Given the description of an element on the screen output the (x, y) to click on. 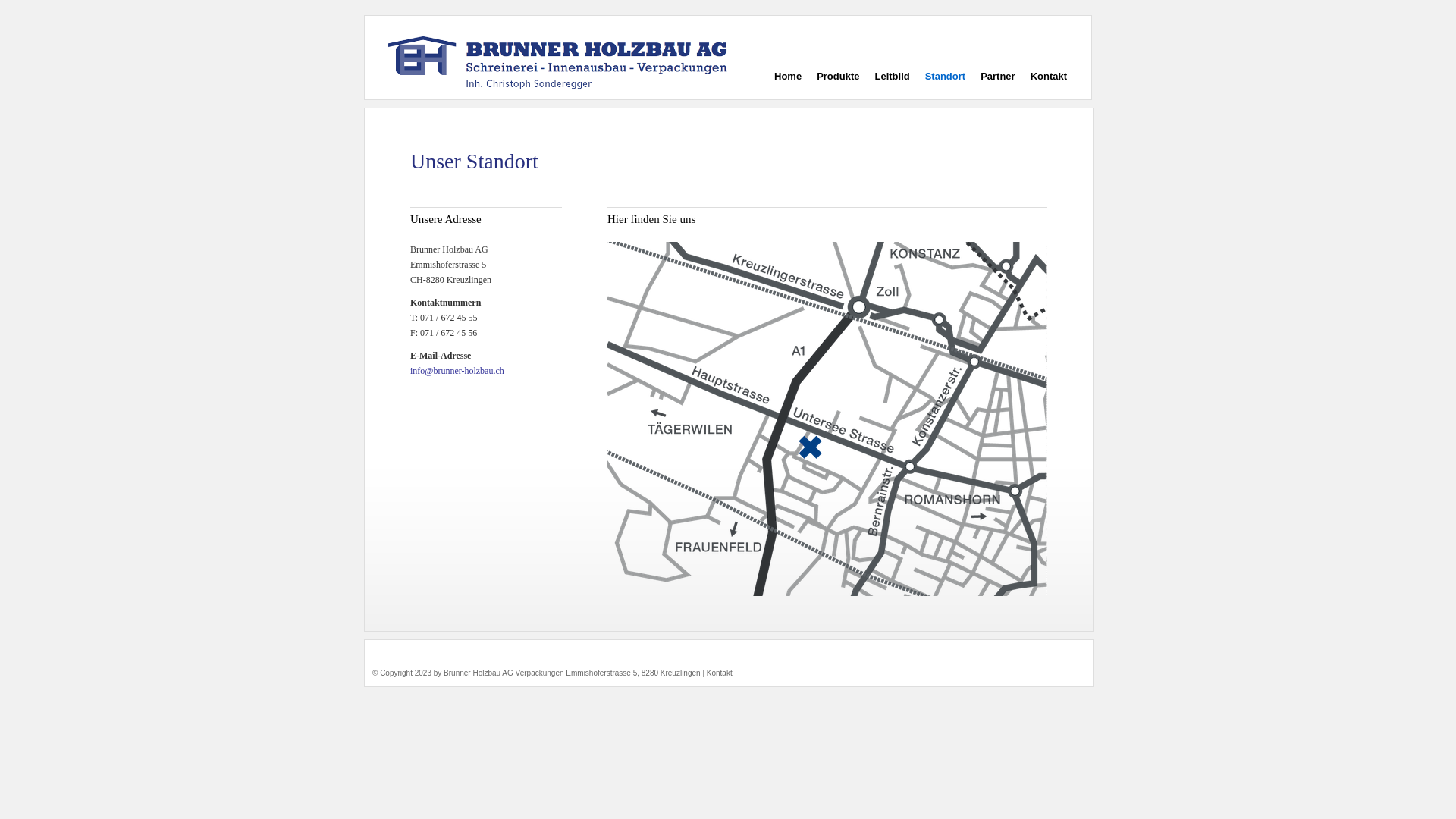
Home Element type: text (787, 76)
info@brunner-holzbau.ch Element type: text (457, 370)
Brunner Holzbau AG Element type: hover (557, 63)
Kontakt Element type: text (719, 672)
Kontakt Element type: text (1048, 76)
Partner Element type: text (997, 76)
Standort Element type: text (945, 76)
Leitbild Element type: text (891, 76)
Produkte Element type: text (837, 76)
